Given the description of an element on the screen output the (x, y) to click on. 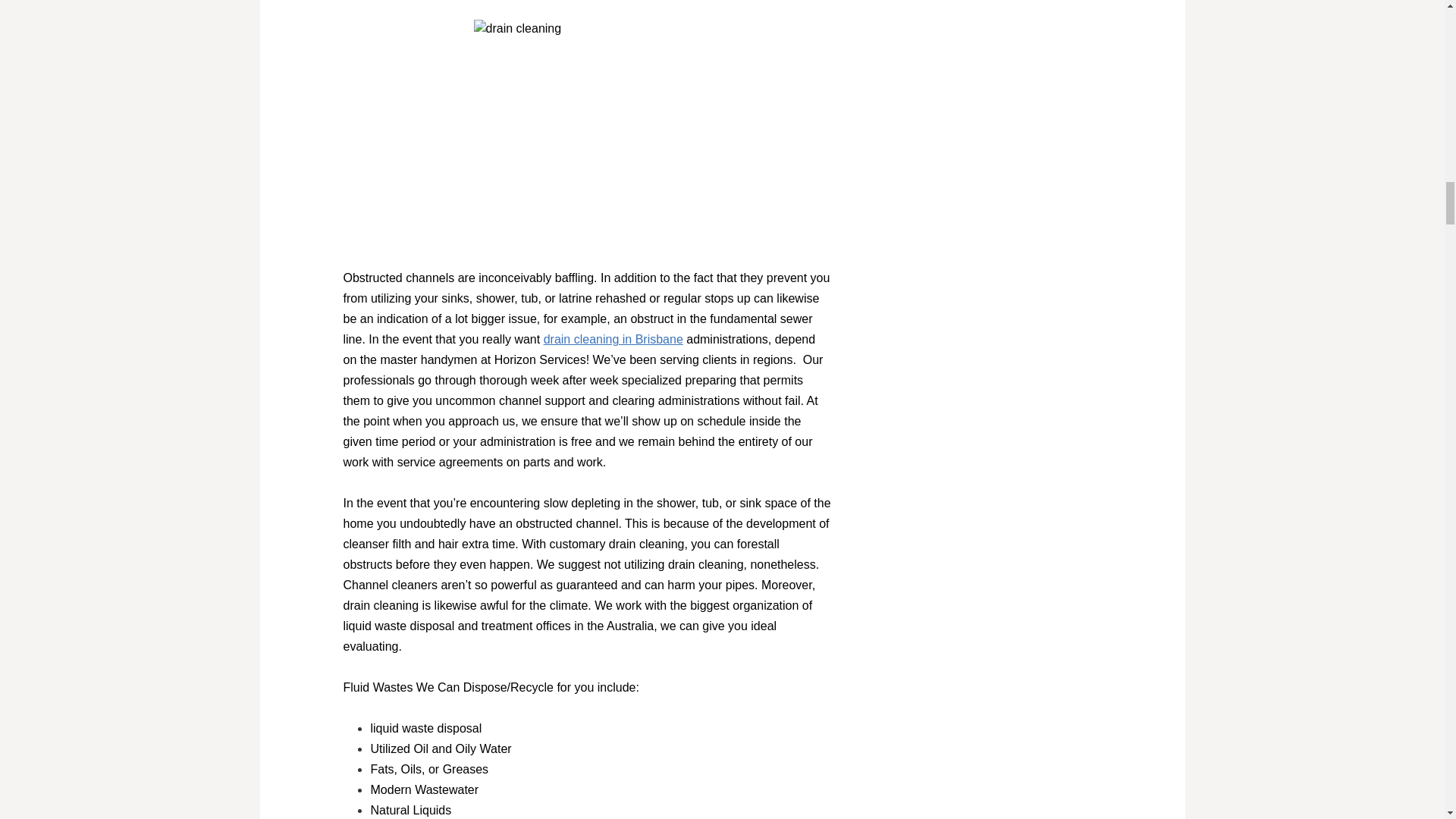
drain cleaning in Brisbane (612, 338)
drain cleaning (586, 133)
drain cleaning in Brisbane (612, 338)
